Given the description of an element on the screen output the (x, y) to click on. 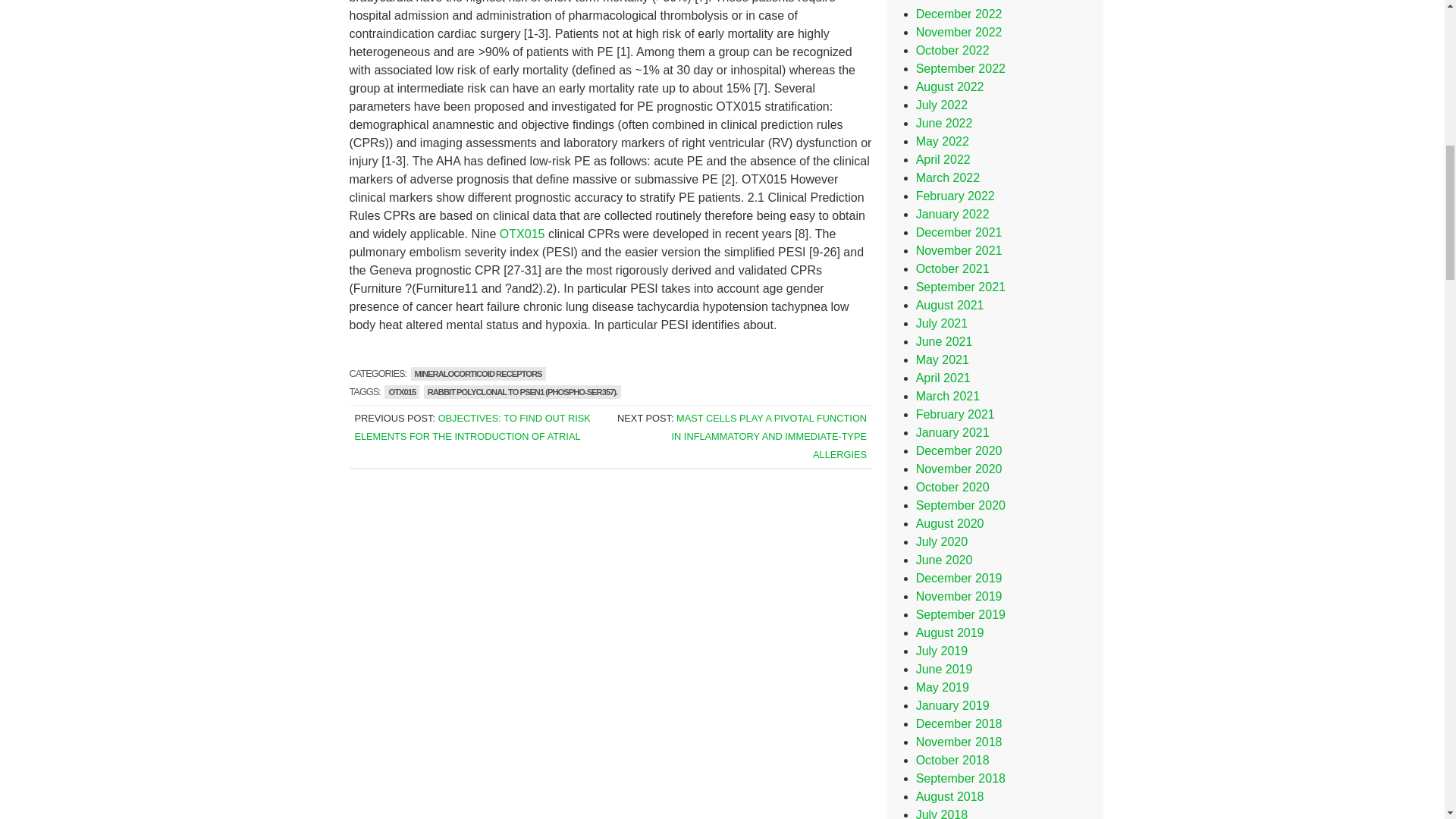
MINERALOCORTICOID RECEPTORS (478, 373)
January 2022 (952, 214)
November 2021 (959, 250)
May 2022 (942, 141)
April 2022 (943, 159)
July 2022 (941, 104)
OTX015 (521, 233)
October 2021 (952, 268)
October 2022 (952, 50)
June 2022 (943, 123)
December 2021 (959, 232)
August 2021 (949, 305)
November 2022 (959, 31)
OTX015 (401, 391)
